Given the description of an element on the screen output the (x, y) to click on. 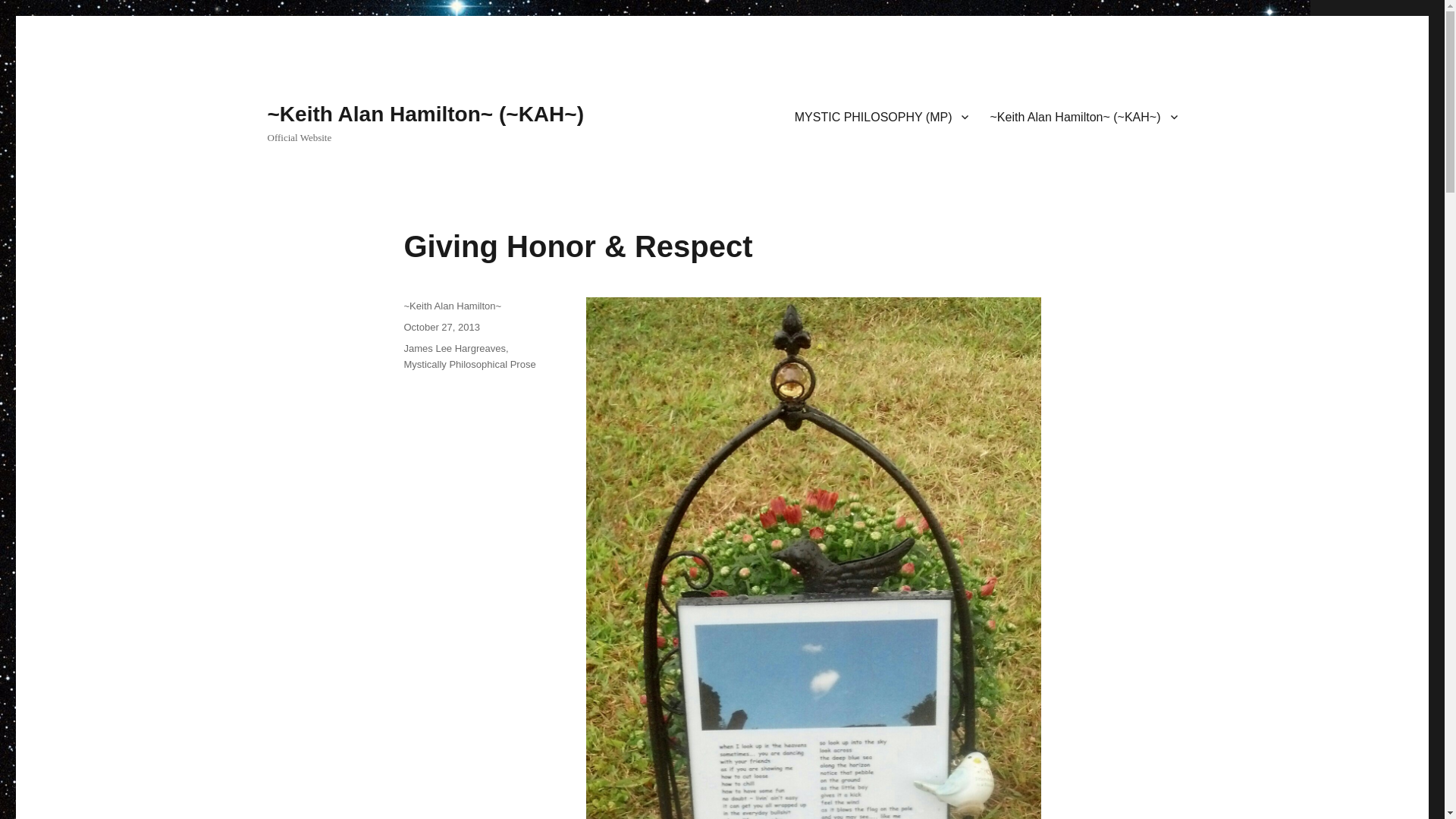
James Lee Hargreaves (454, 348)
October 27, 2013 (441, 326)
Mystically Philosophical Prose (469, 364)
